Given the description of an element on the screen output the (x, y) to click on. 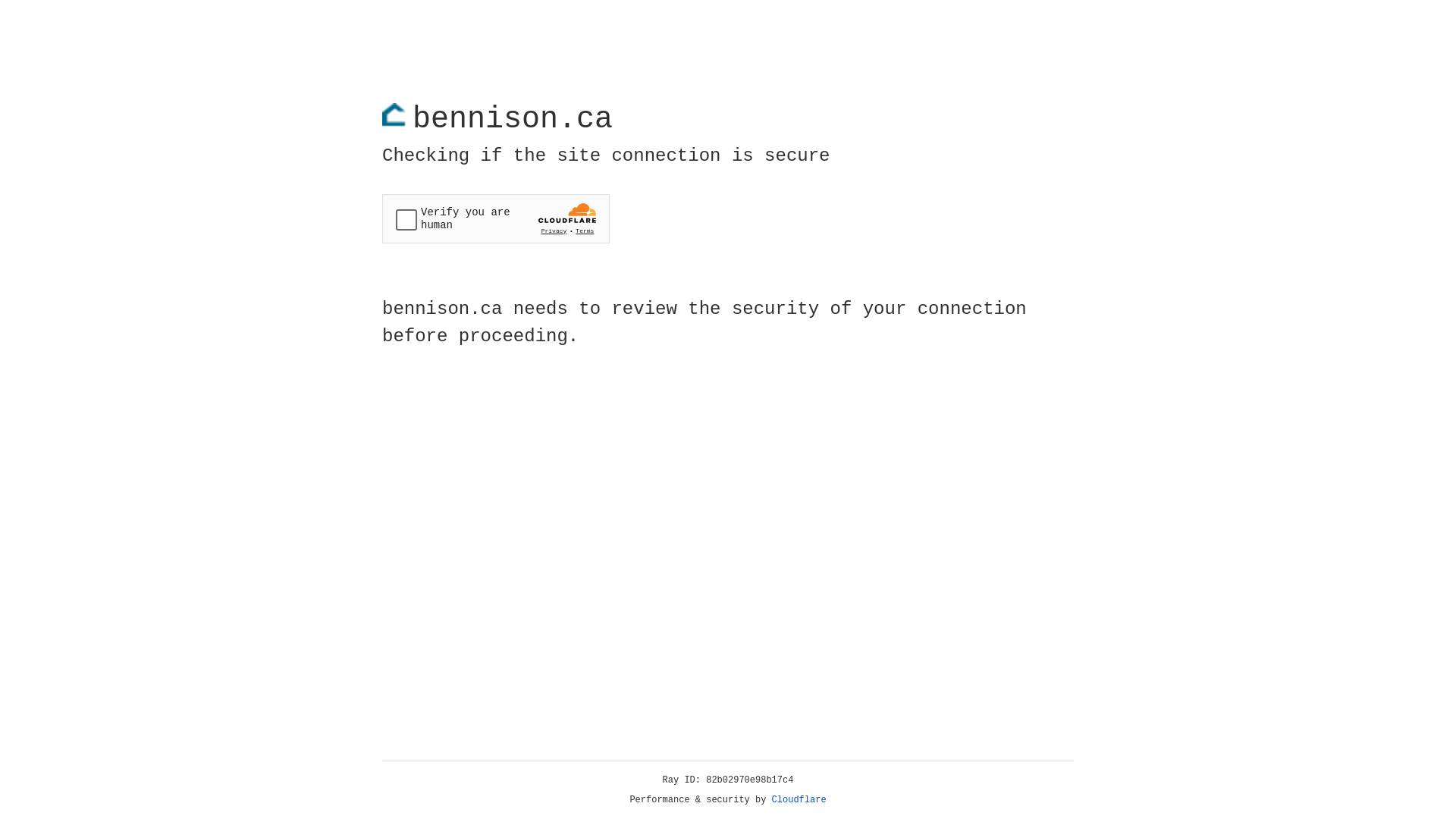
Cloudflare Element type: text (798, 799)
Widget containing a Cloudflare security challenge Element type: hover (495, 218)
